Given the description of an element on the screen output the (x, y) to click on. 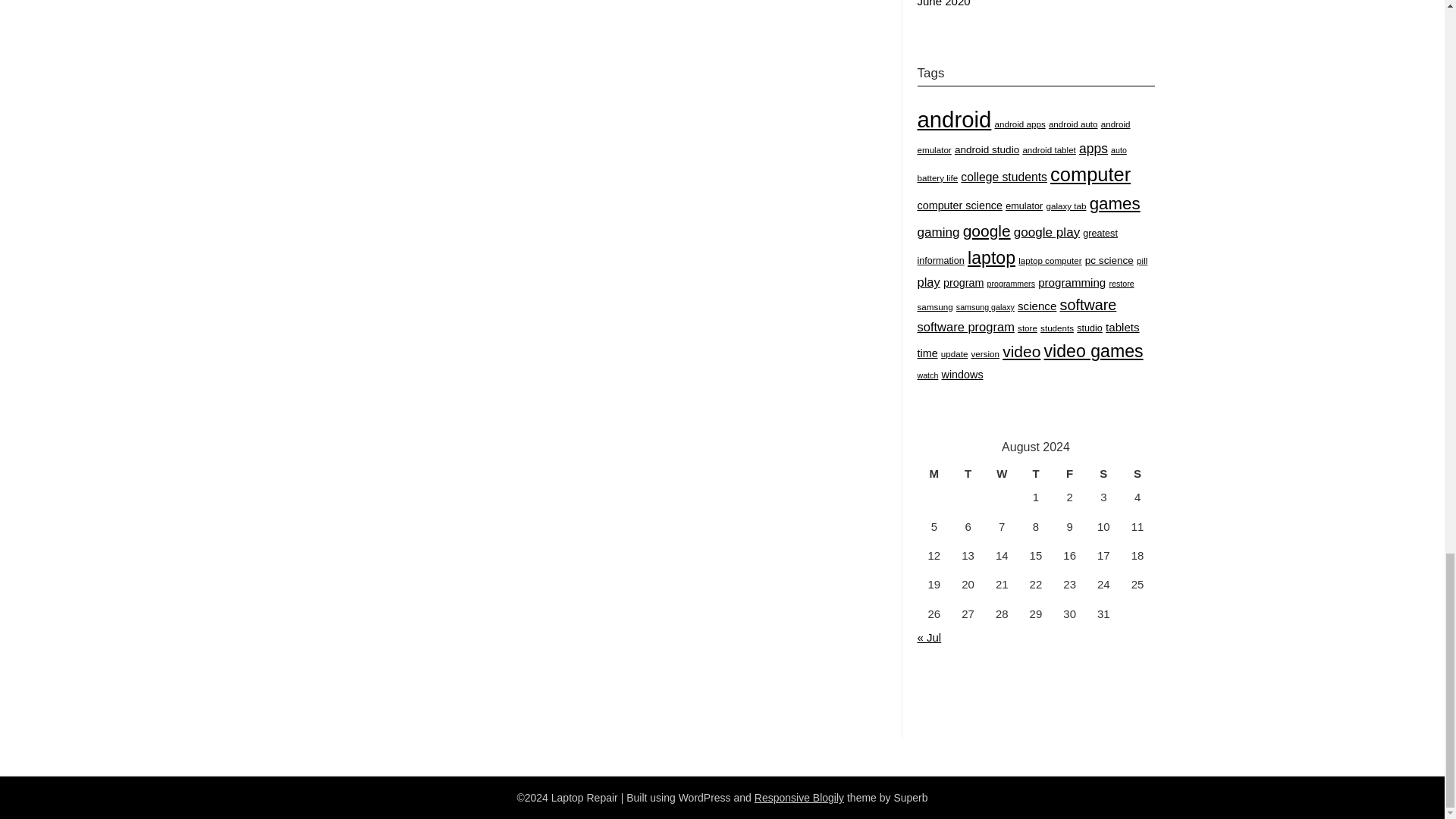
Tuesday (967, 474)
Monday (934, 474)
Thursday (1035, 474)
Saturday (1103, 474)
Wednesday (1002, 474)
Sunday (1137, 474)
Friday (1069, 474)
